Given the description of an element on the screen output the (x, y) to click on. 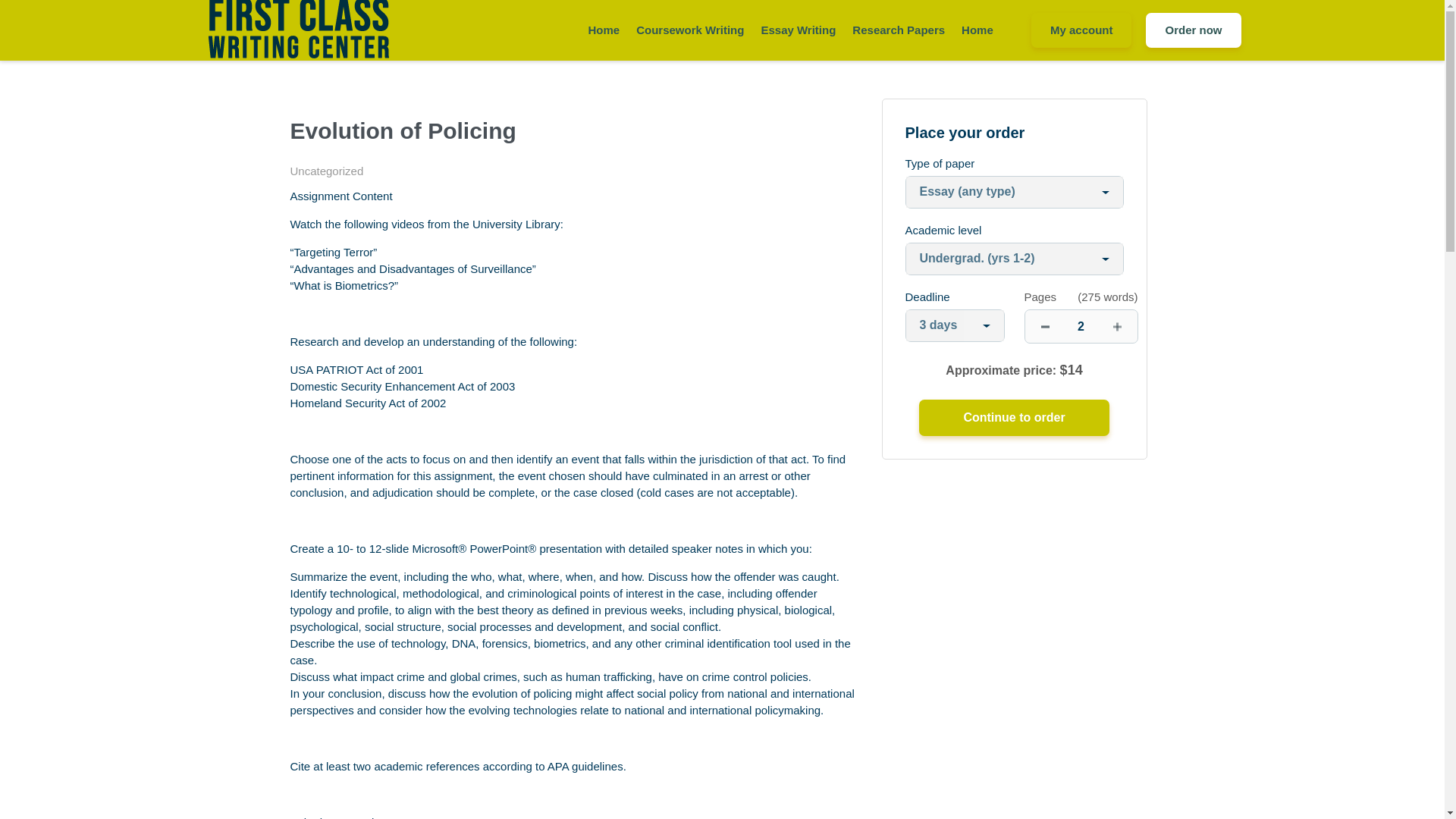
Essay Writing (797, 30)
Order now (1192, 30)
Continue to order (1013, 417)
Research Papers (897, 30)
Home (976, 30)
Coursework Writing (690, 30)
Home (604, 30)
Continue to order (1013, 417)
Uncategorized (325, 170)
2 (1081, 326)
